Given the description of an element on the screen output the (x, y) to click on. 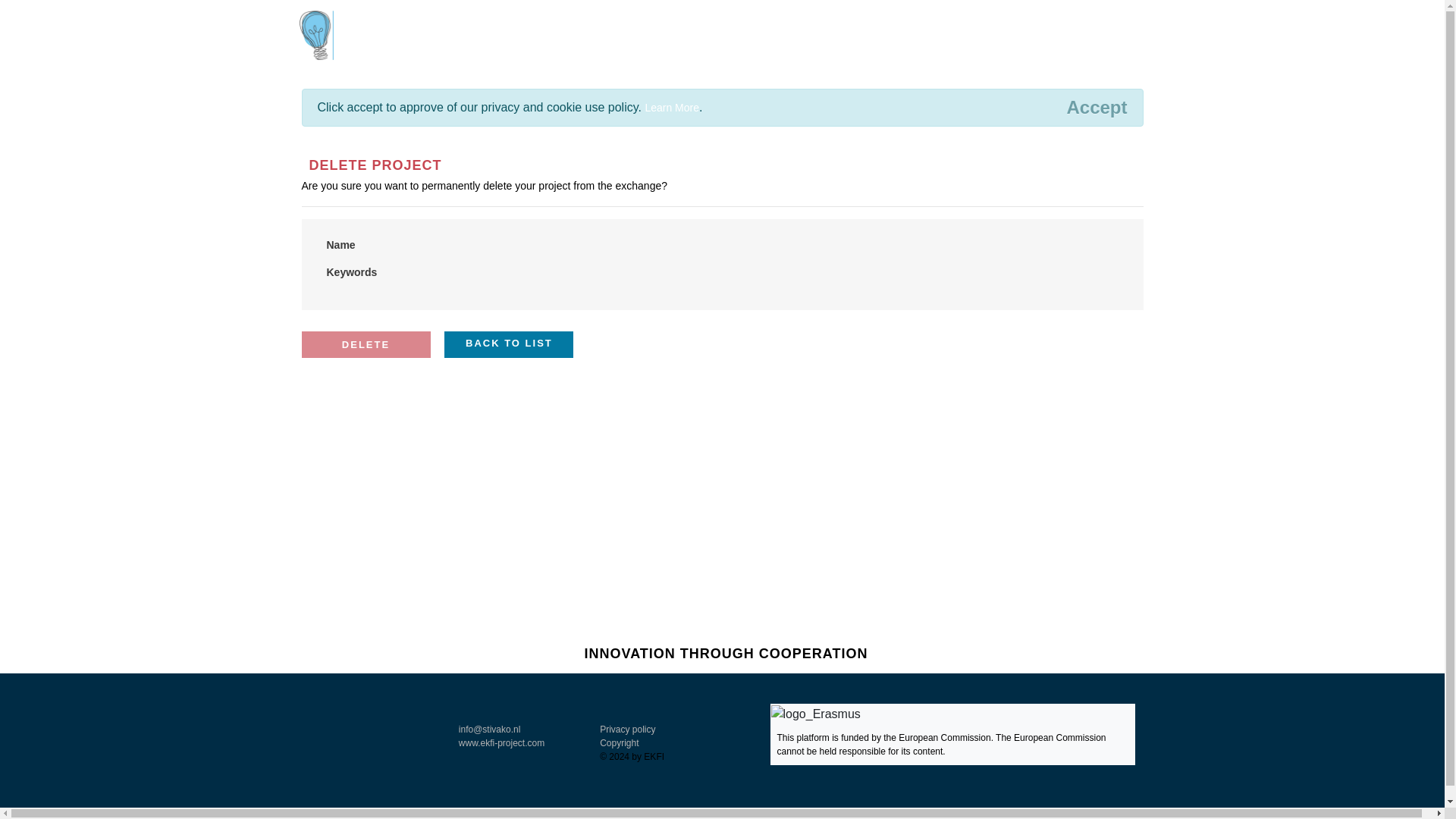
ABOUT US (1114, 37)
join (1063, 13)
Delete (365, 344)
Accept (1096, 107)
Copyright (619, 742)
HELP (1056, 37)
Privacy policy (627, 728)
login (1119, 13)
Delete (365, 344)
www.ekfi-project.com (501, 742)
BACK TO LIST (508, 344)
Learn More (671, 107)
